Given the description of an element on the screen output the (x, y) to click on. 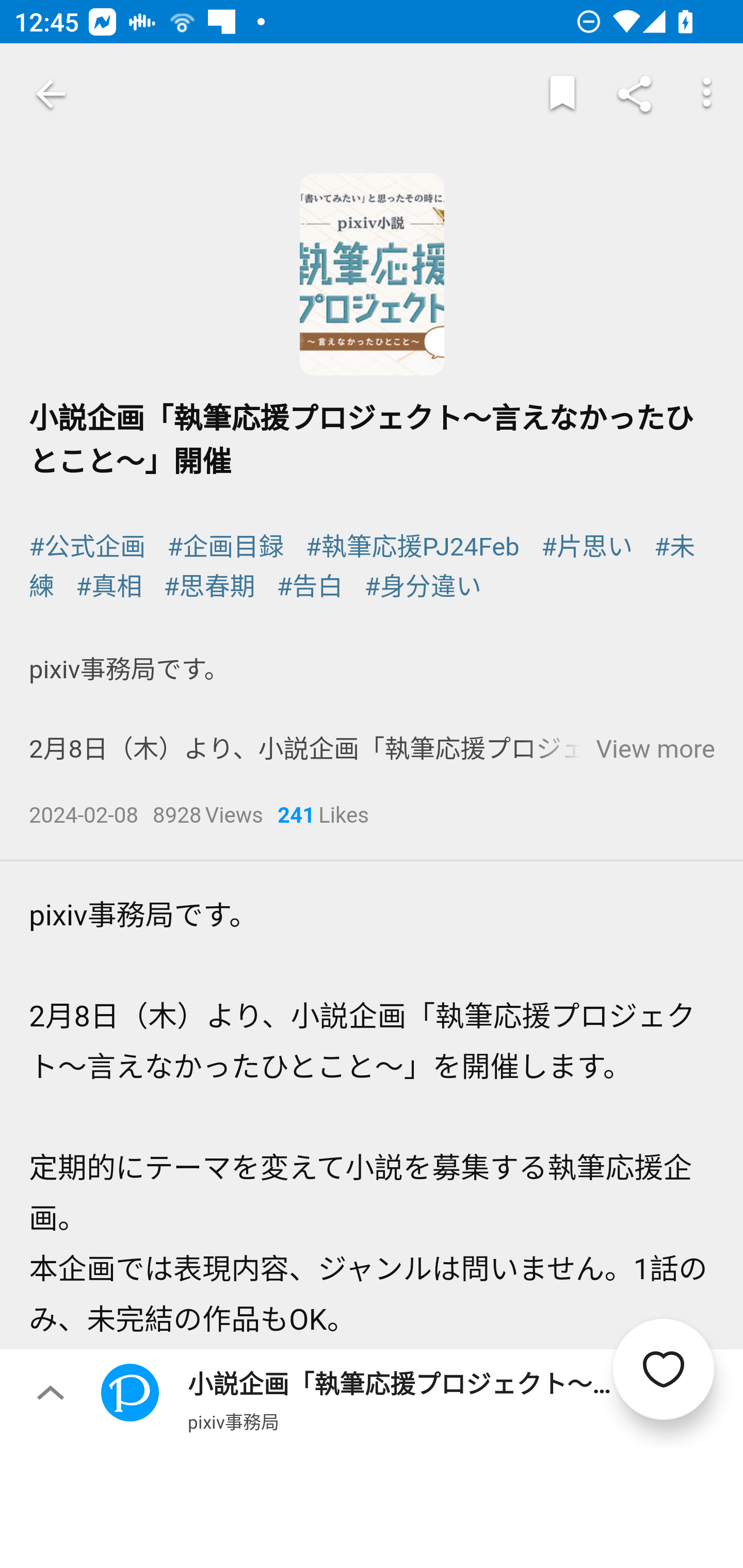
Navigate up (50, 93)
Markers (562, 93)
Share (634, 93)
More options (706, 93)
#公式企画 (87, 545)
#未練 (362, 566)
#企画目録 (225, 545)
#執筆応援PJ24Feb (412, 545)
#片思い (586, 545)
#真相 (108, 586)
#思春期 (209, 586)
#告白 (310, 586)
#身分違い (422, 586)
View more (654, 749)
241Likes (323, 816)
pixiv事務局 (233, 1421)
